Given the description of an element on the screen output the (x, y) to click on. 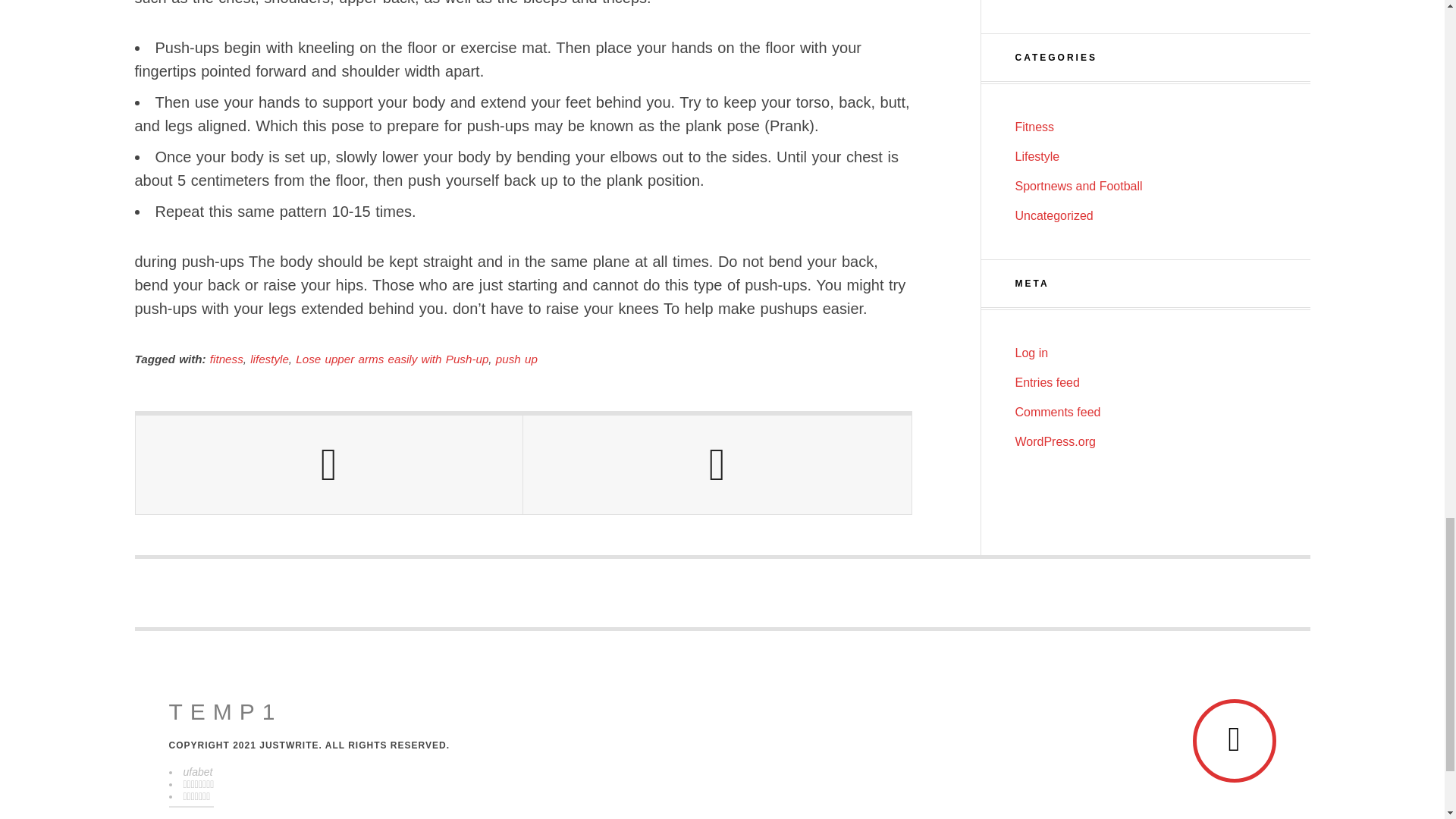
caymanislandshospital.com (225, 711)
Fitness (1034, 126)
Previous Post (328, 464)
Lose upper arms easily with Push-up (391, 358)
push up (516, 358)
Next Post (716, 464)
lifestyle (269, 358)
Lifestyle (1036, 155)
fitness (226, 358)
